Given the description of an element on the screen output the (x, y) to click on. 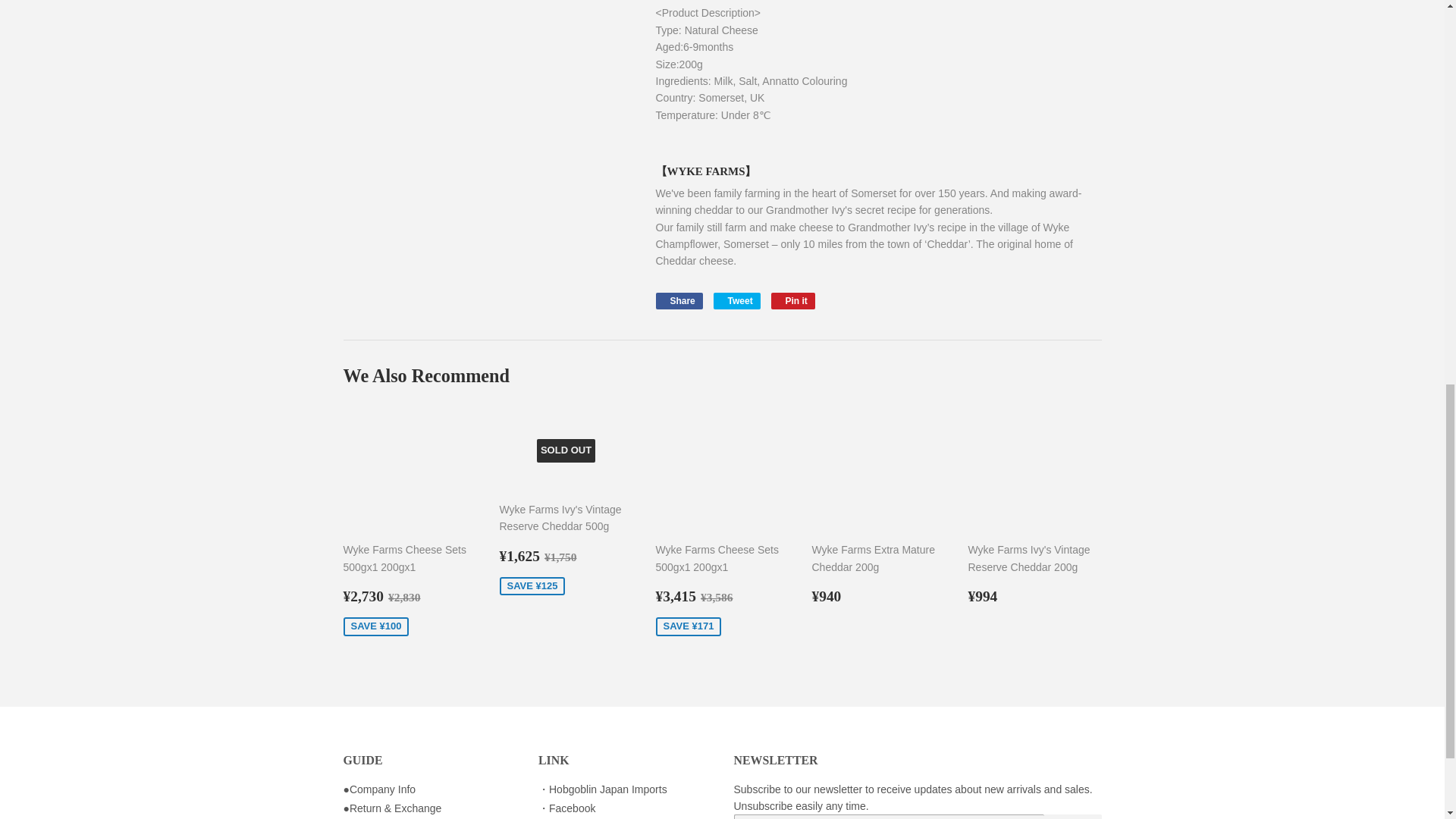
Share on Facebook (678, 300)
Pin on Pinterest (793, 300)
Tweet on Twitter (736, 300)
